Given the description of an element on the screen output the (x, y) to click on. 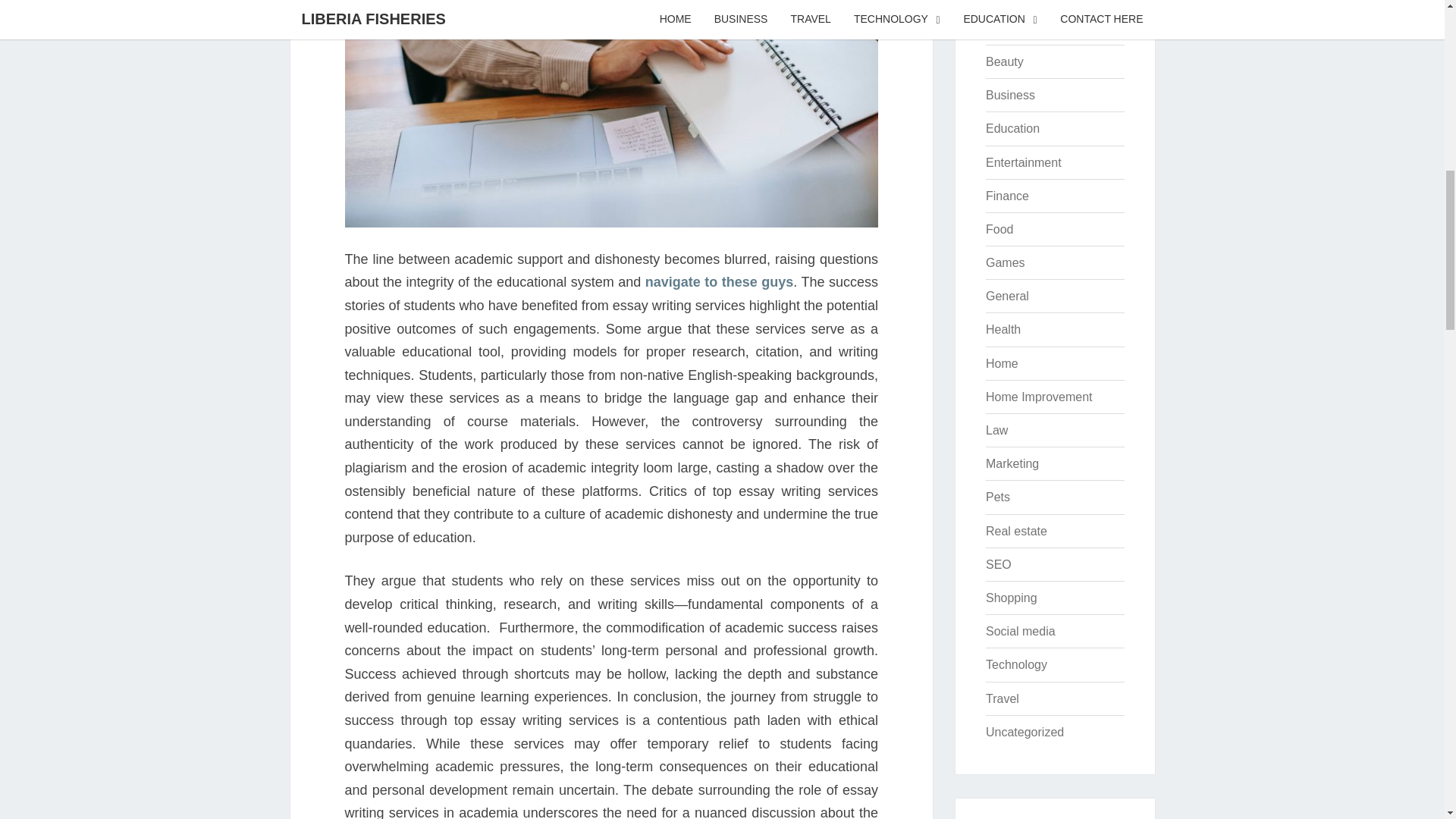
Pets (997, 496)
Games (1005, 262)
Technology (1015, 664)
Business (1010, 94)
Real estate (1015, 530)
Automobile (1015, 28)
SEO (998, 563)
navigate to these guys (719, 281)
Home Improvement (1039, 396)
General (1007, 295)
